Given the description of an element on the screen output the (x, y) to click on. 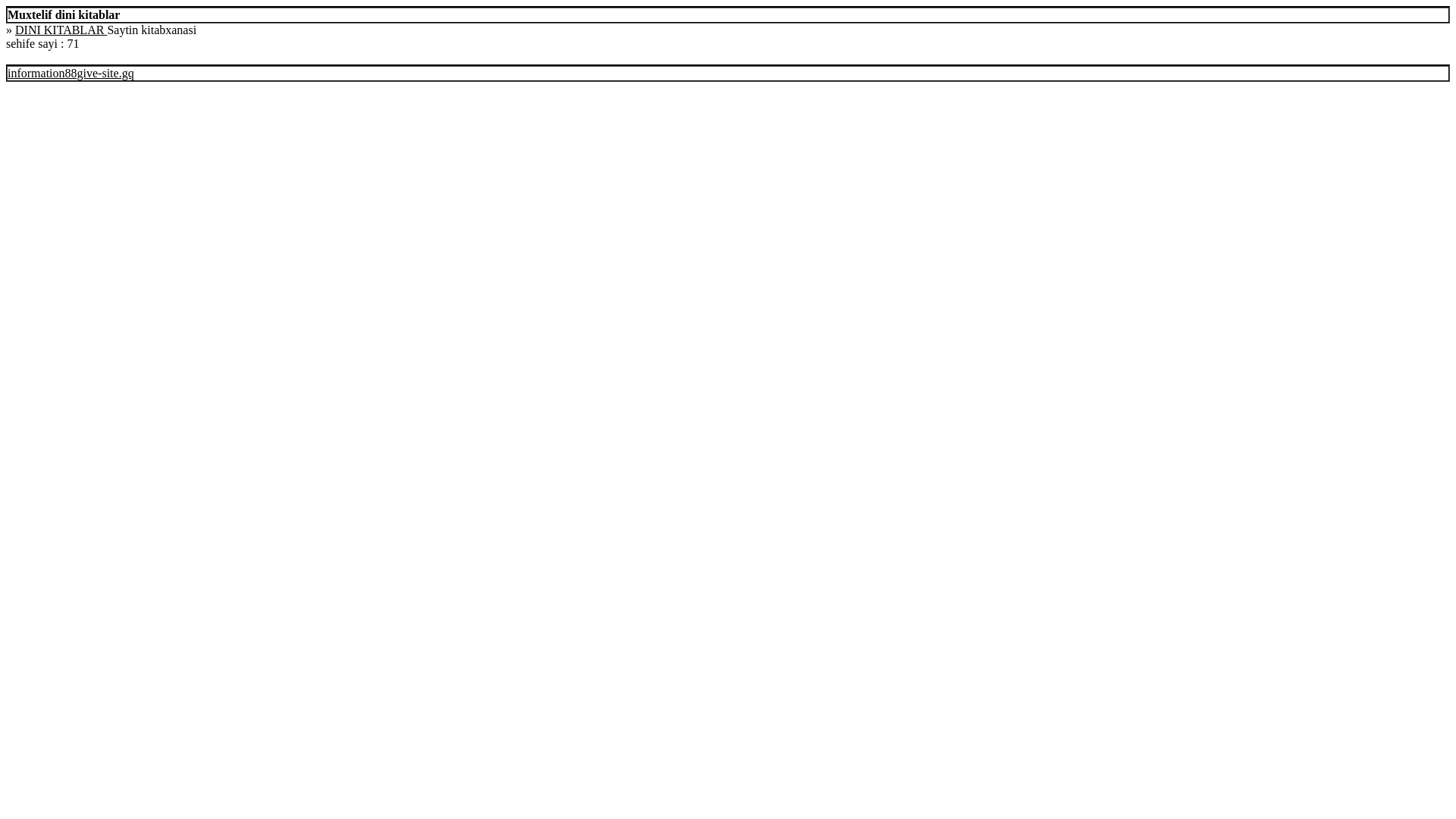
DINI KITABLAR Element type: text (60, 29)
information88give-site.gq Element type: text (70, 72)
